Given the description of an element on the screen output the (x, y) to click on. 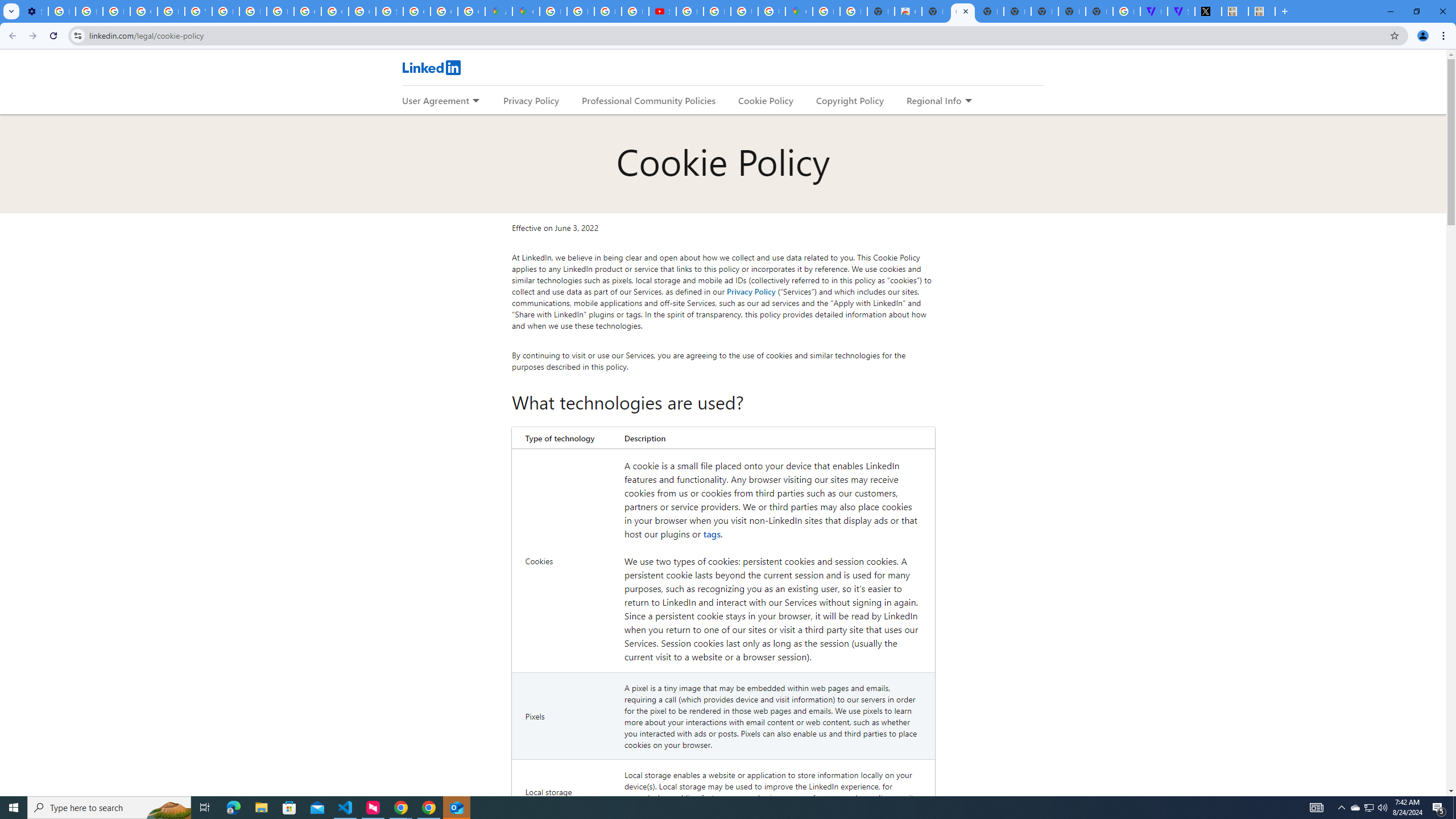
Delete photos & videos - Computer - Google Photos Help (61, 11)
Search tabs (10, 11)
tags (711, 533)
You (1422, 35)
Cookie Policy | LinkedIn (962, 11)
Privacy Help Center - Policies Help (580, 11)
Bookmark this tab (1393, 35)
Expand to show more links for Regional Info (967, 101)
Google Maps (799, 11)
